Given the description of an element on the screen output the (x, y) to click on. 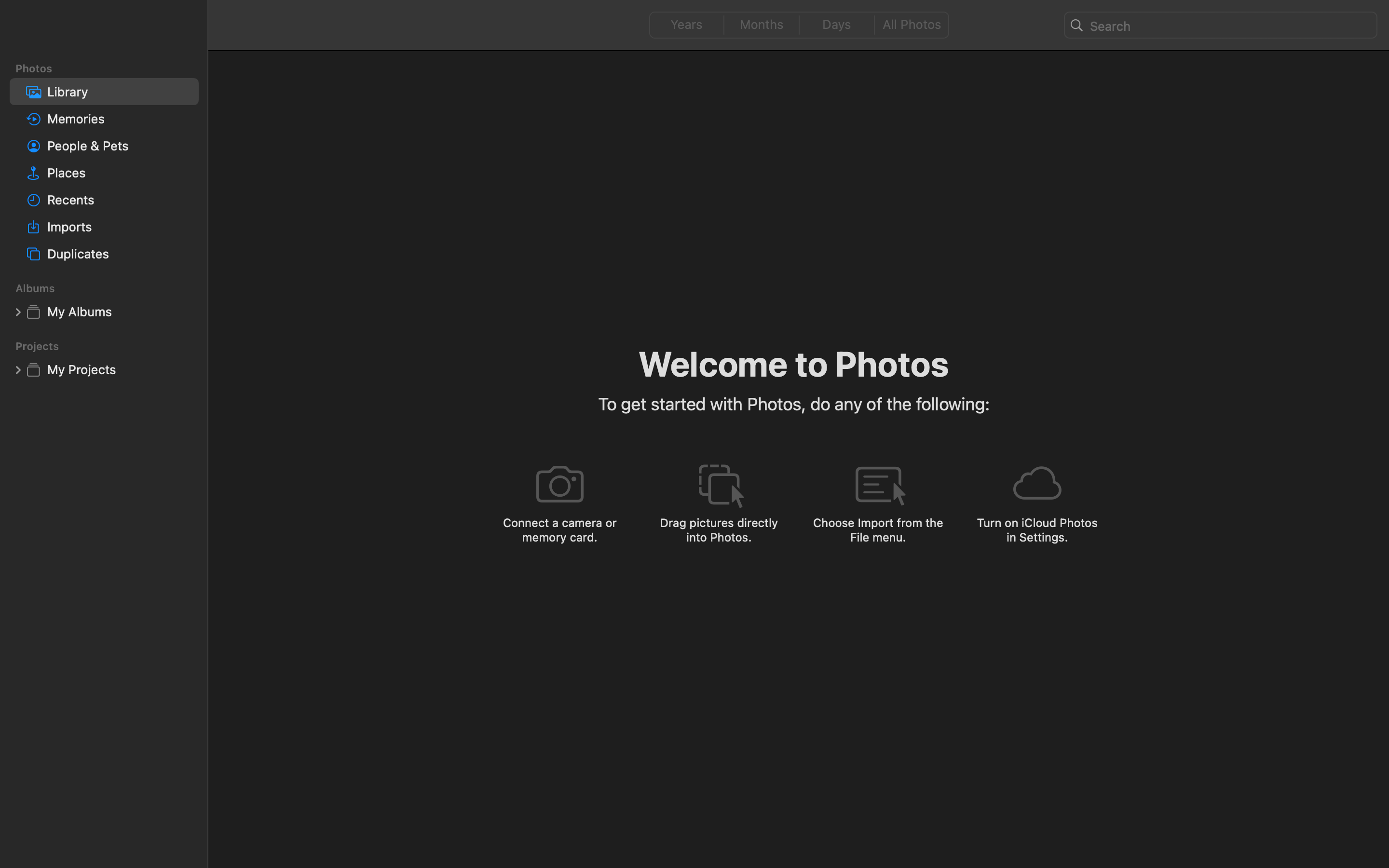
Imports Element type: AXStaticText (118, 226)
<AXUIElement 0x1467d1d90> {pid=5430} Element type: AXRadioGroup (798, 24)
To get started with Photos, do any of the following: Element type: AXStaticText (793, 403)
My Albums Element type: AXStaticText (118, 311)
Welcome to Photos Element type: AXStaticText (793, 362)
